Given the description of an element on the screen output the (x, y) to click on. 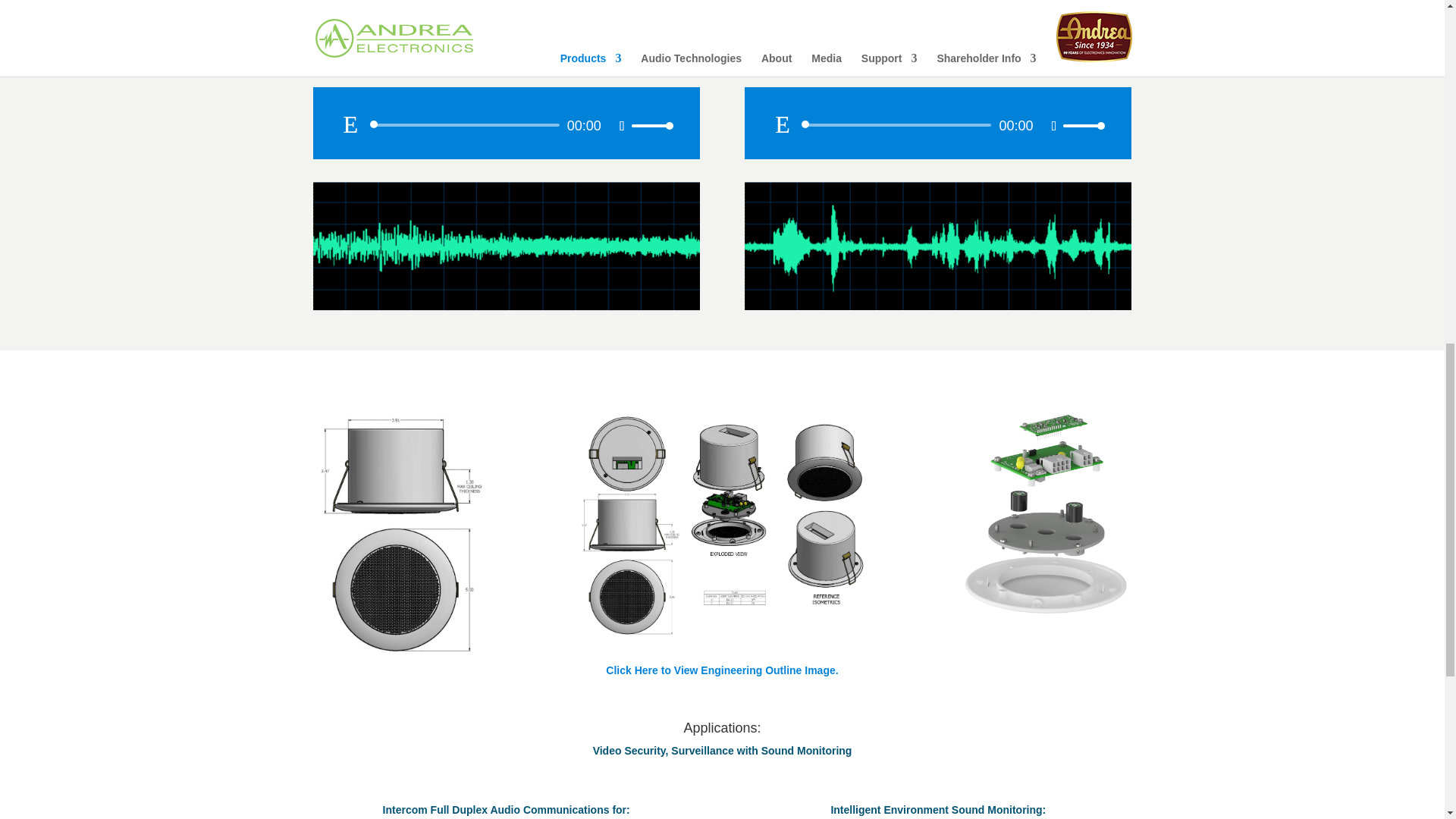
Ceiling Microphone Array DA-30 (937, 245)
DA-30-DA-30AEC OUTLINE C1-1030800-X (721, 525)
Ceiling Microphone - Standard (505, 246)
